Given the description of an element on the screen output the (x, y) to click on. 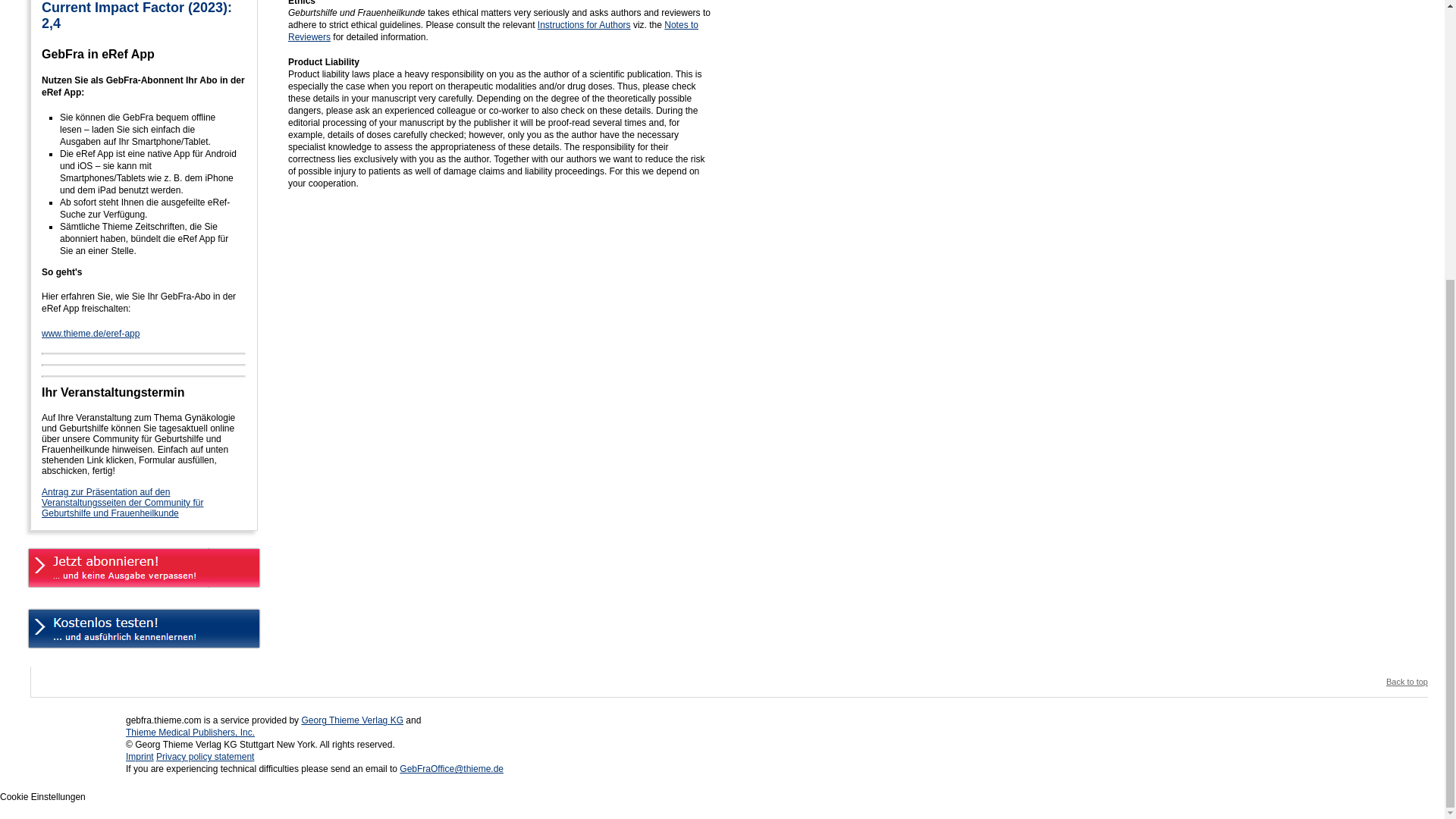
Instructions for Authors (583, 24)
Notes to Reviewers (493, 30)
